Given the description of an element on the screen output the (x, y) to click on. 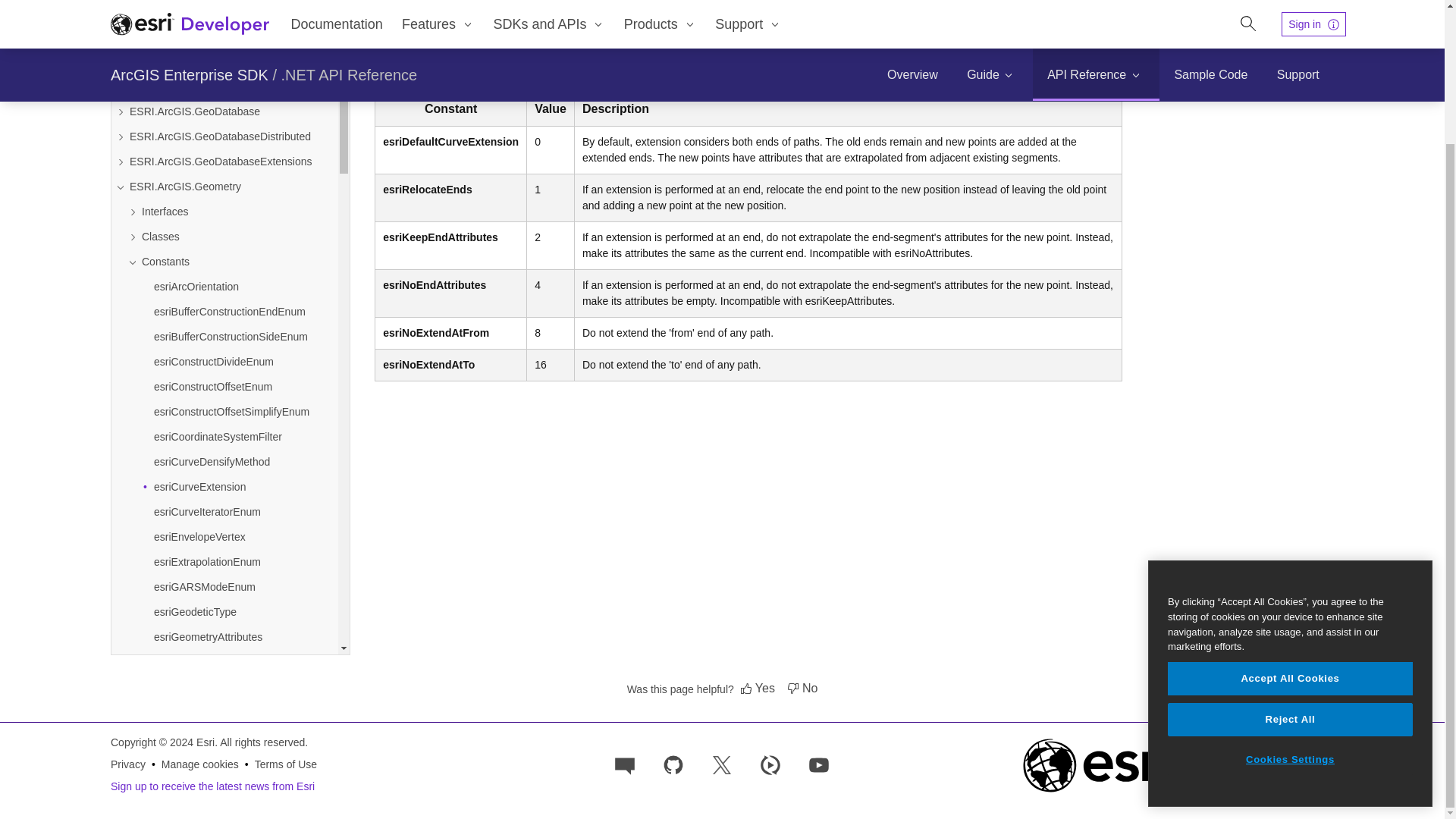
Esri Developers on YouTube (818, 763)
Esri (1137, 764)
Esri Developers on X (721, 763)
Esri Community (625, 763)
Developer videos on Esri Video (770, 763)
Esri on GitHub (673, 763)
